Given the description of an element on the screen output the (x, y) to click on. 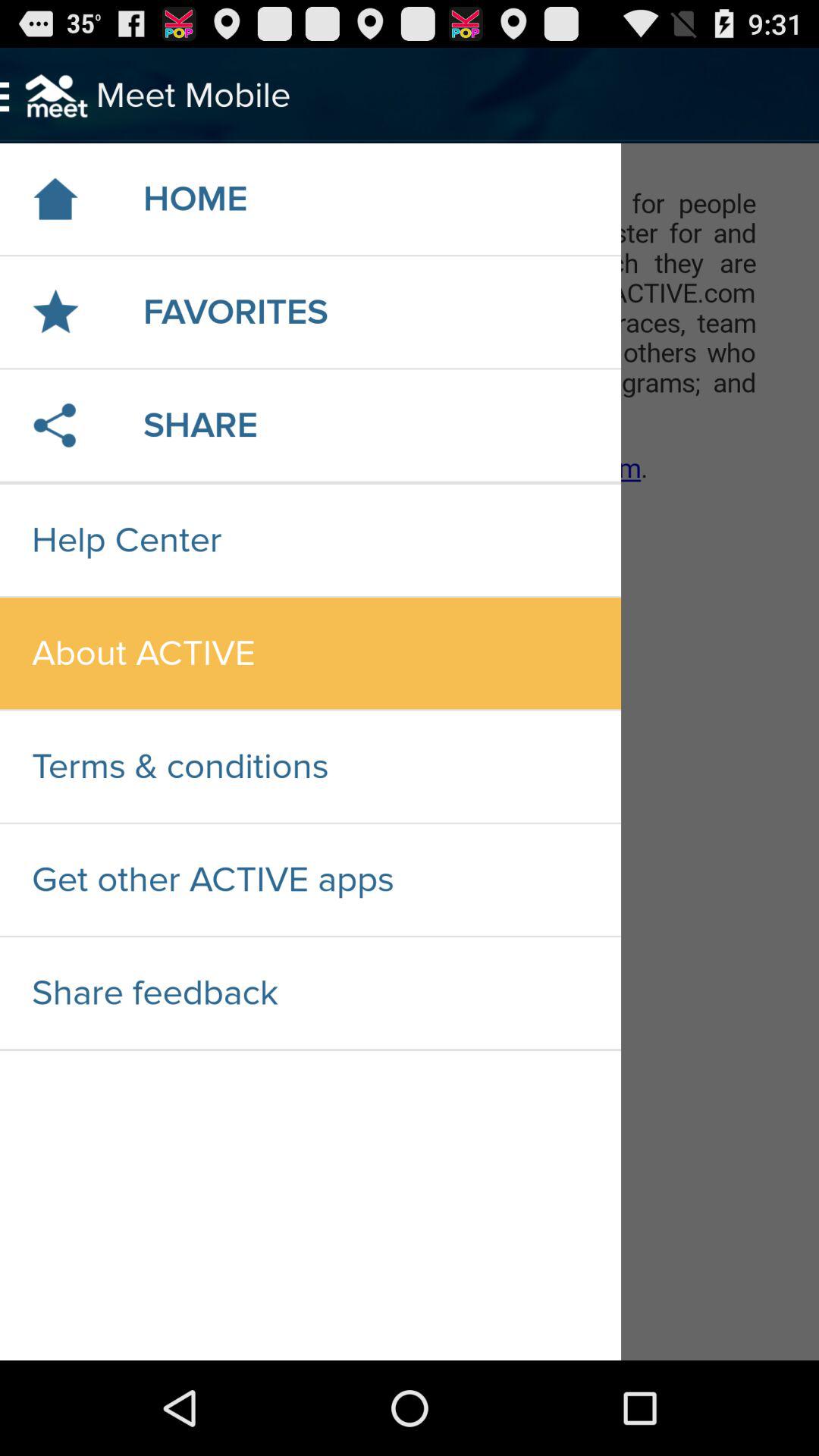
navigation menu (409, 751)
